Given the description of an element on the screen output the (x, y) to click on. 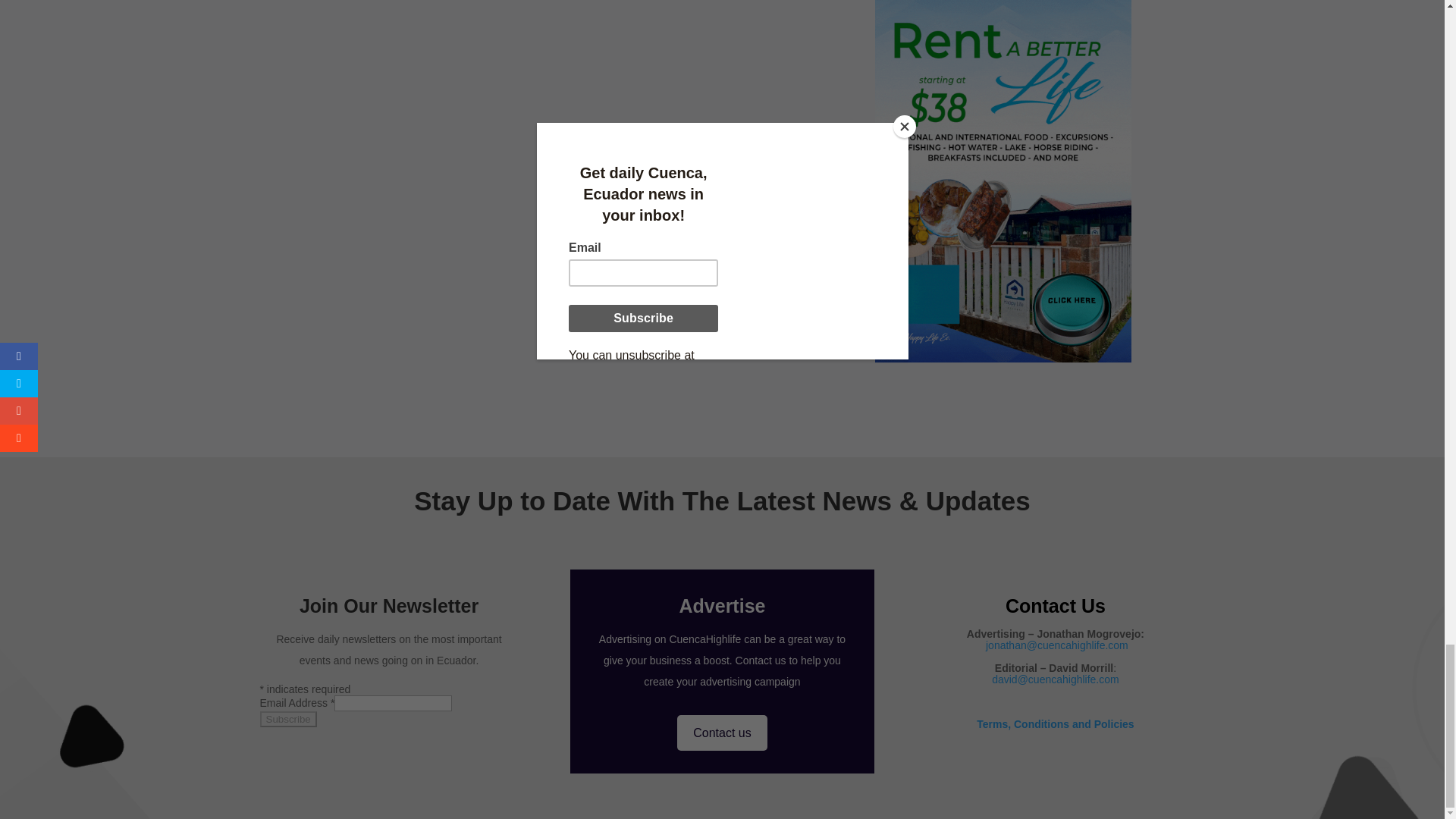
Subscribe (287, 719)
